Given the description of an element on the screen output the (x, y) to click on. 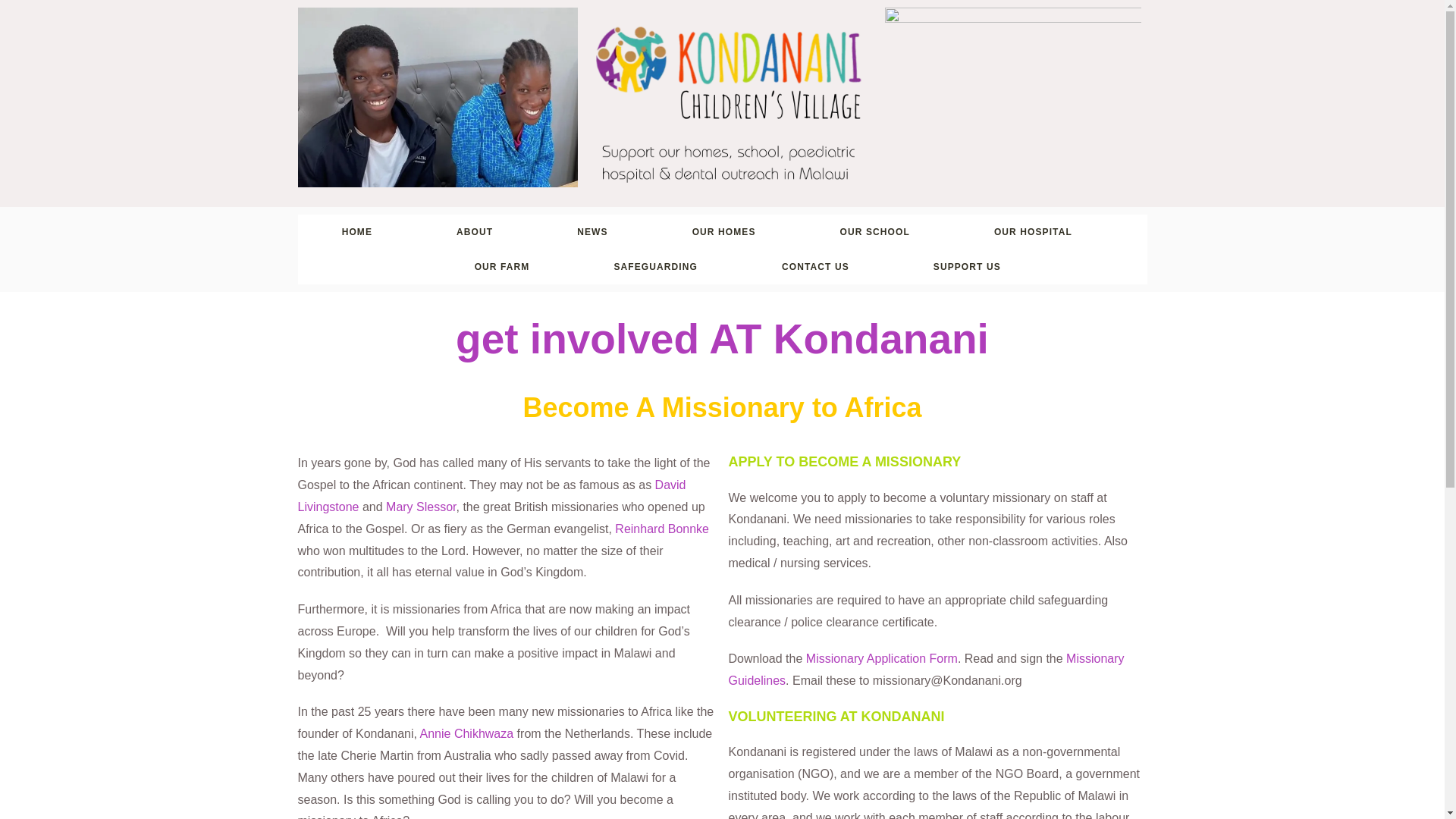
CONTACT US (815, 266)
SUPPORT US (966, 266)
SAFEGUARDING (655, 266)
OUR HOSPITAL (1032, 231)
ABOUT (474, 231)
OUR SCHOOL (874, 231)
OUR HOMES (724, 231)
HOME (357, 231)
OUR FARM (502, 266)
NEWS (592, 231)
